Given the description of an element on the screen output the (x, y) to click on. 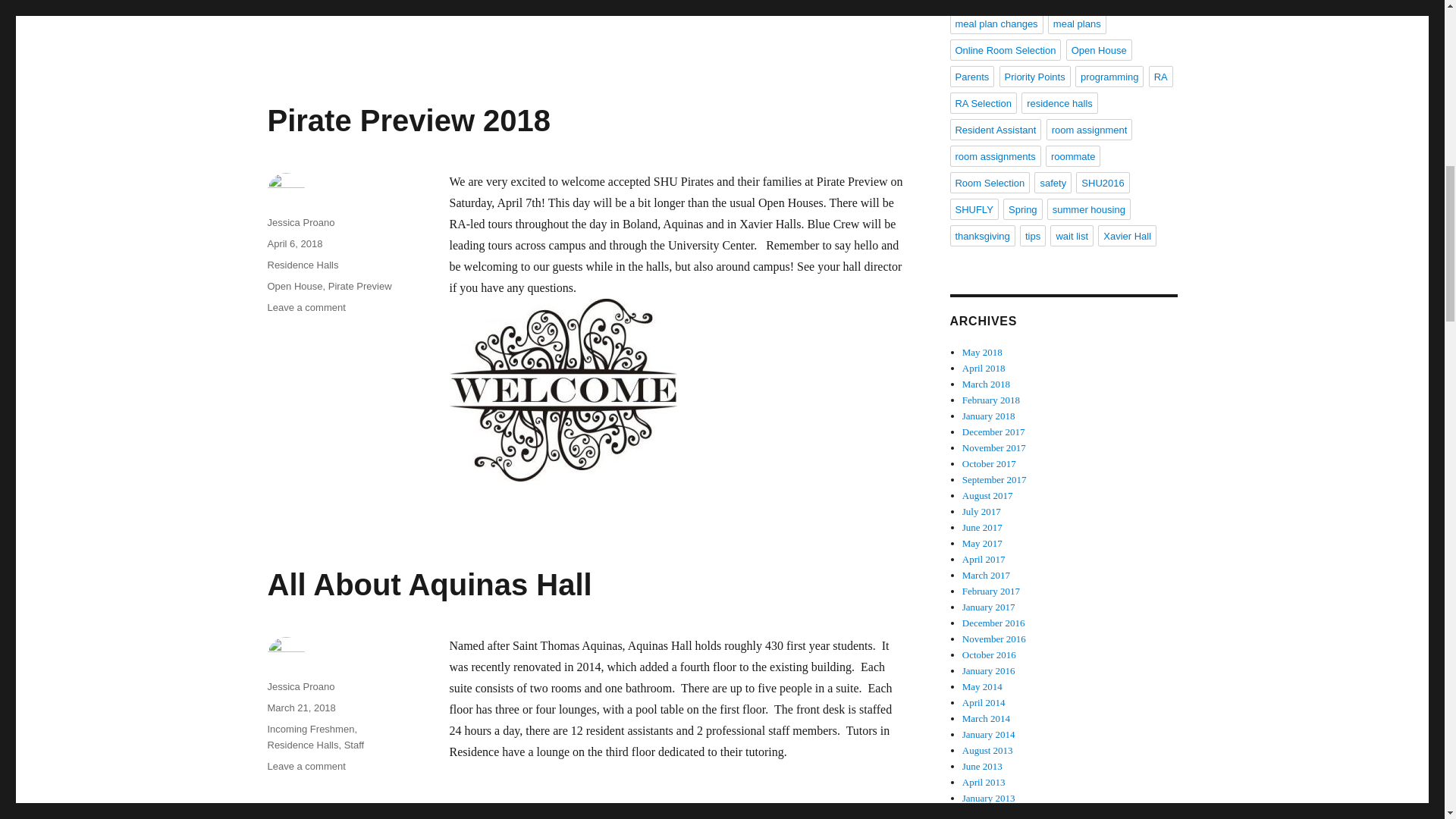
Staff (305, 766)
Incoming Freshmen (354, 745)
Jessica Proano (309, 728)
Open House (300, 222)
Jessica Proano (293, 285)
Pirate Preview (305, 307)
Pirate Preview 2018 (300, 686)
Residence Halls (360, 285)
March 21, 2018 (408, 120)
All About Aquinas Hall (301, 265)
Residence Halls (300, 707)
April 6, 2018 (428, 584)
